Given the description of an element on the screen output the (x, y) to click on. 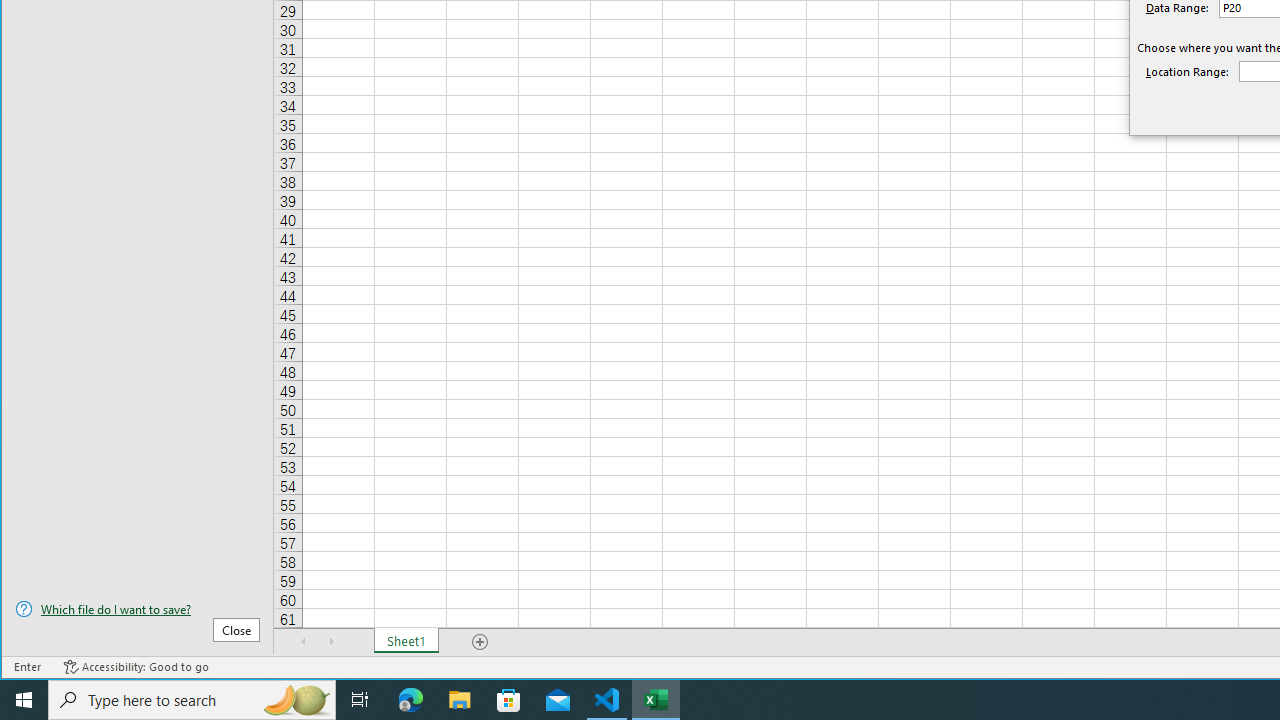
Add Sheet (481, 641)
Which file do I want to save? (137, 609)
Scroll Left (303, 641)
Scroll Right (331, 641)
Sheet1 (406, 641)
Close (235, 629)
Accessibility Checker Accessibility: Good to go (136, 667)
